Given the description of an element on the screen output the (x, y) to click on. 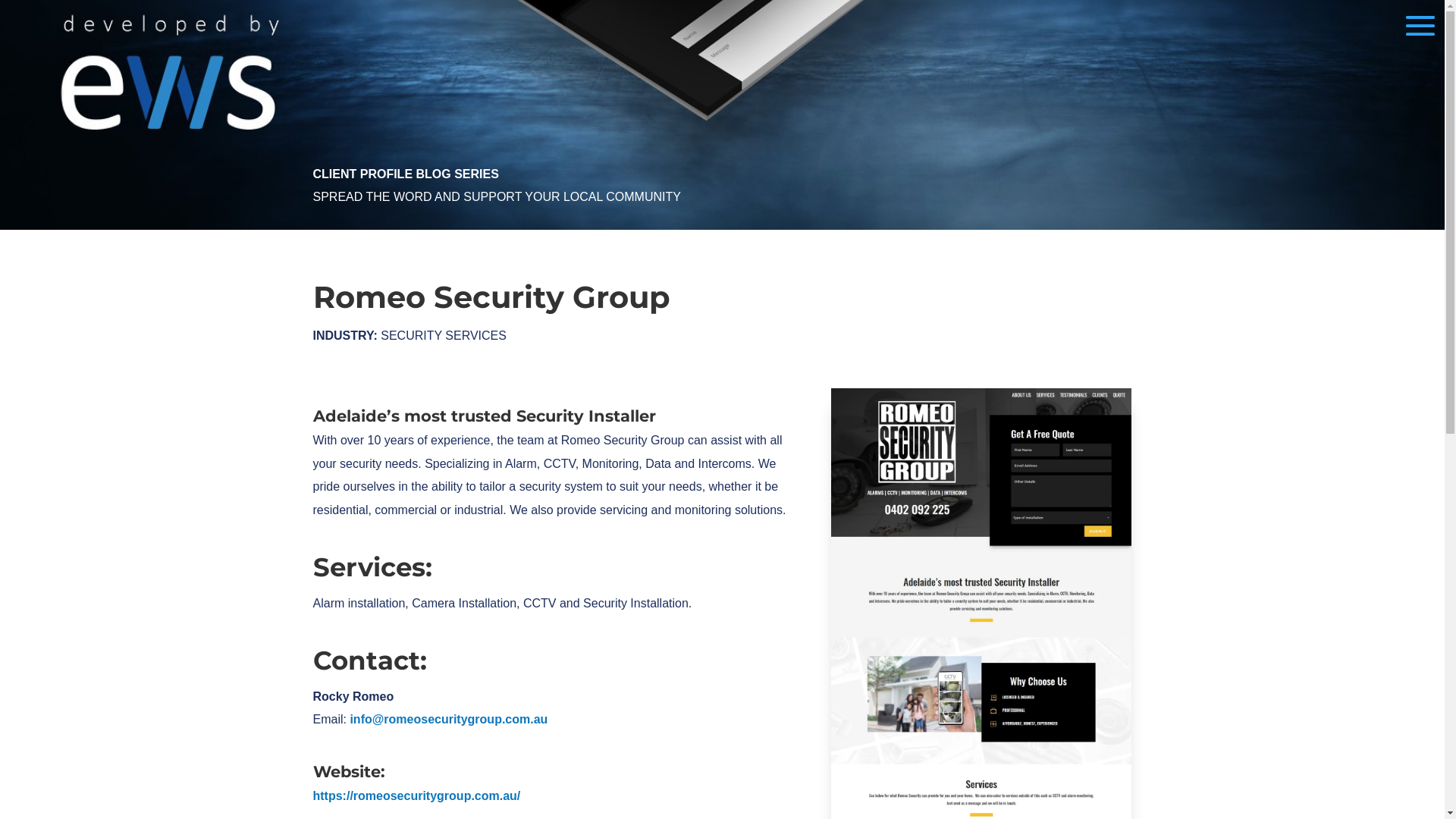
https://romeosecuritygroup.com.au/ Element type: text (416, 795)
info@romeosecuritygroup.com.au Element type: text (448, 718)
